Given the description of an element on the screen output the (x, y) to click on. 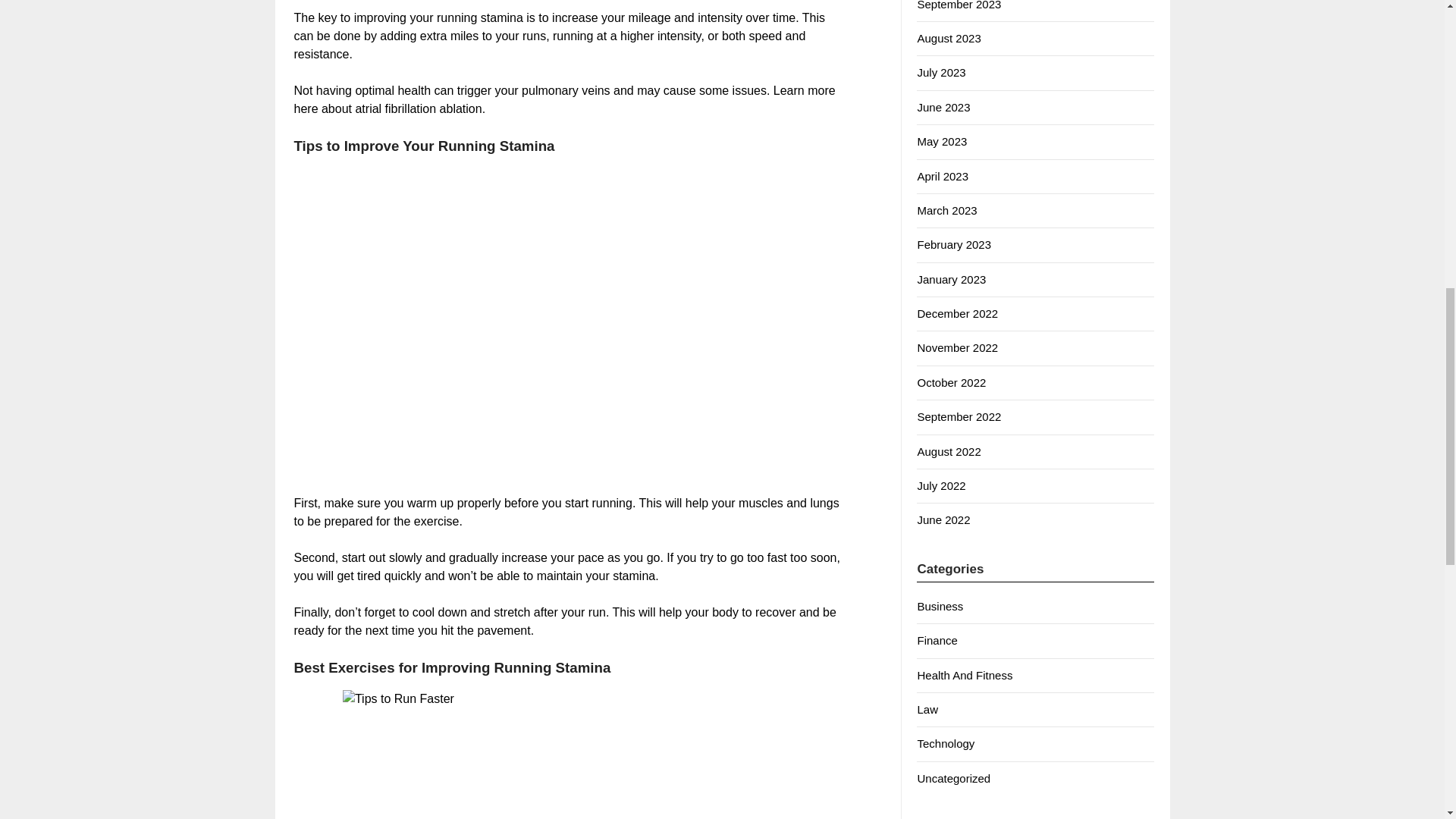
January 2023 (951, 278)
February 2023 (954, 244)
August 2023 (948, 38)
July 2023 (941, 72)
April 2023 (942, 175)
June 2023 (943, 106)
May 2023 (941, 141)
September 2023 (959, 5)
March 2023 (946, 210)
